Given the description of an element on the screen output the (x, y) to click on. 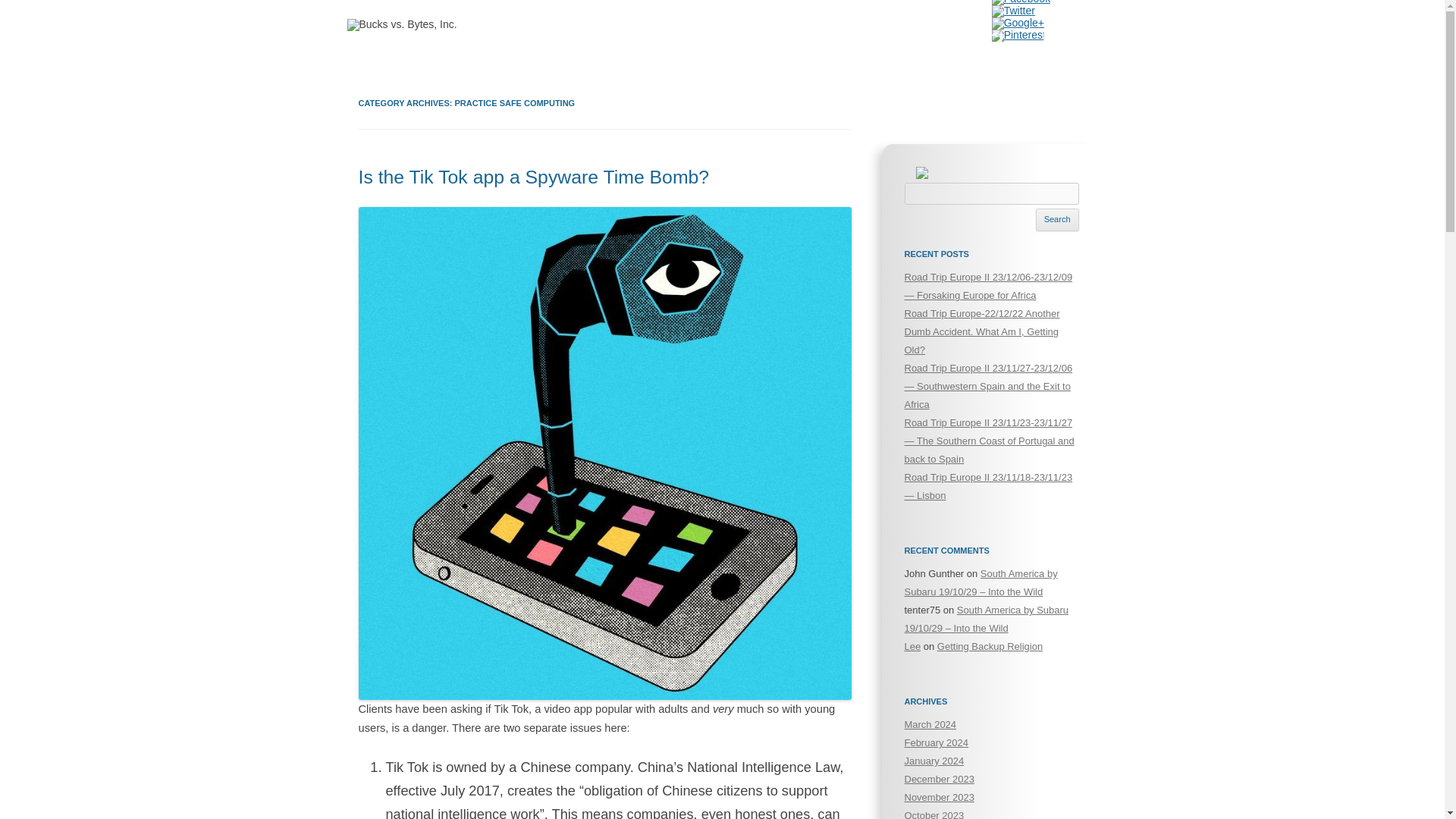
Lee (912, 645)
Search (1056, 219)
Home (692, 37)
Is the Tik Tok app a Spyware Time Bomb? (533, 177)
Search (1056, 219)
Blog (1061, 37)
Permalink to Is the Tik Tok app a Spyware Time Bomb? (533, 177)
Contact (969, 37)
Web Dev (798, 37)
